Given the description of an element on the screen output the (x, y) to click on. 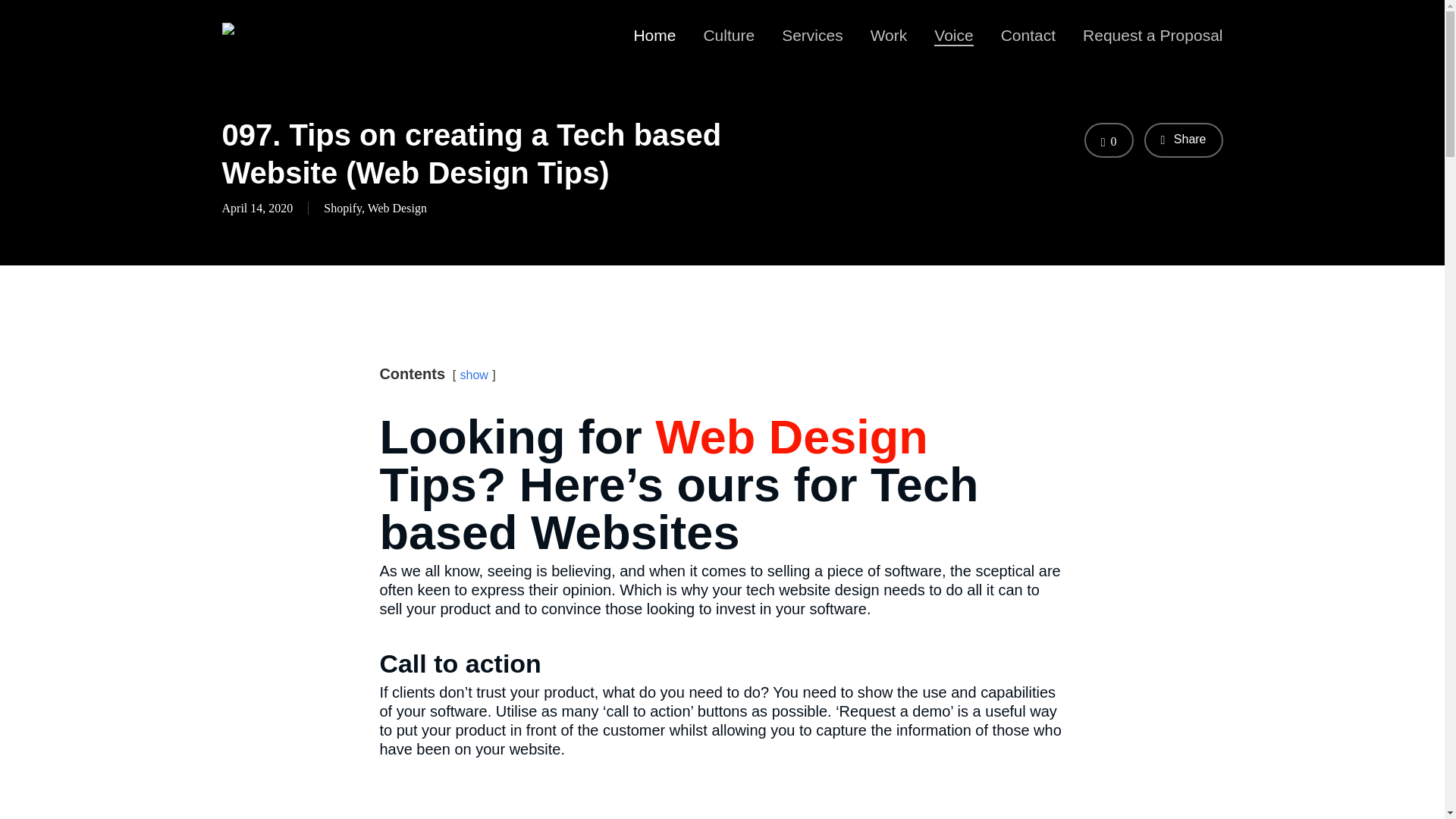
Voice (953, 35)
Home (654, 35)
Work (888, 35)
Love this (1109, 140)
Culture (728, 35)
Contact (1028, 35)
Shopify (342, 209)
Request a Proposal (1153, 35)
Web Design (397, 209)
Services (812, 35)
